Given the description of an element on the screen output the (x, y) to click on. 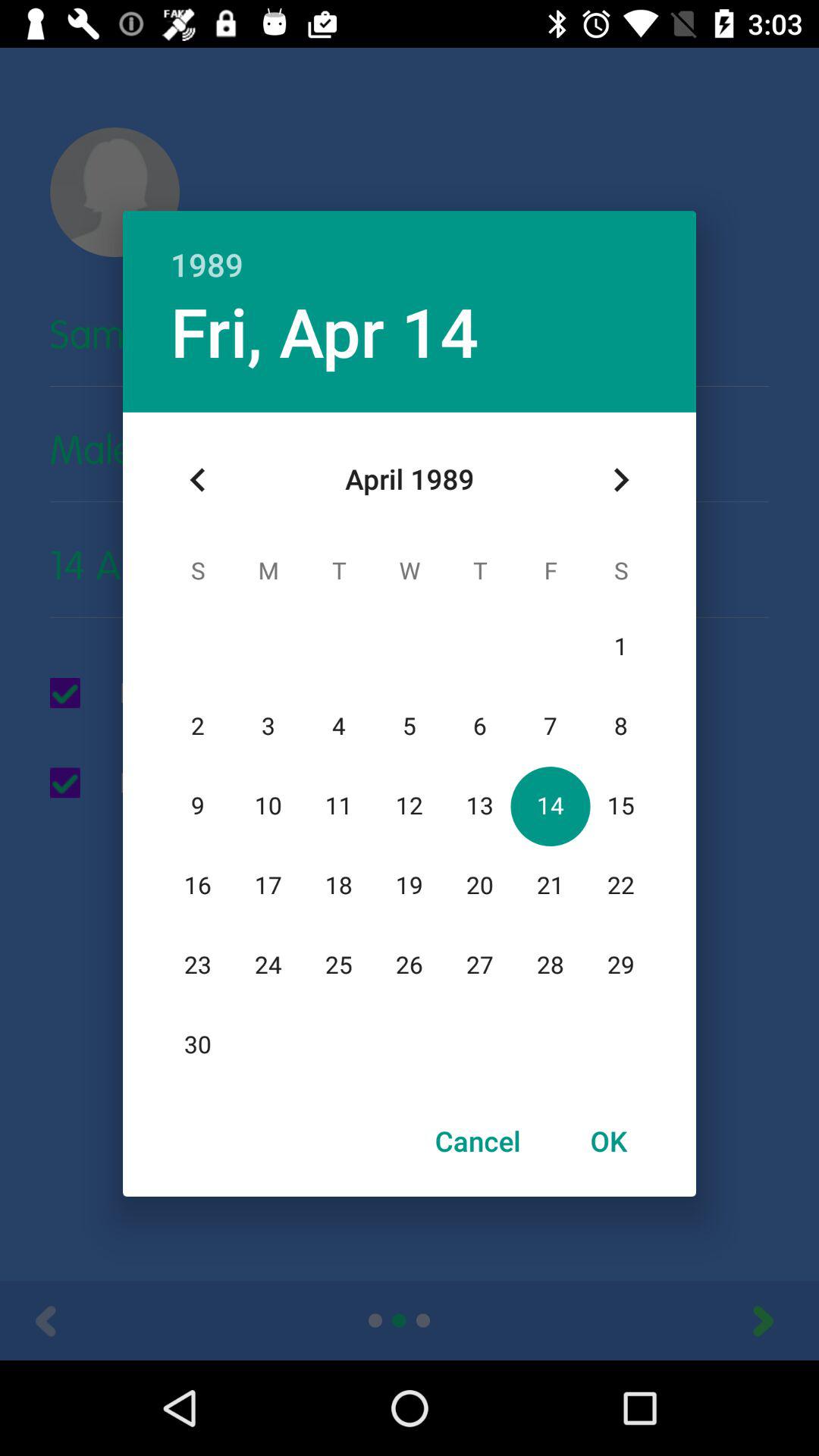
tap cancel at the bottom (477, 1140)
